Given the description of an element on the screen output the (x, y) to click on. 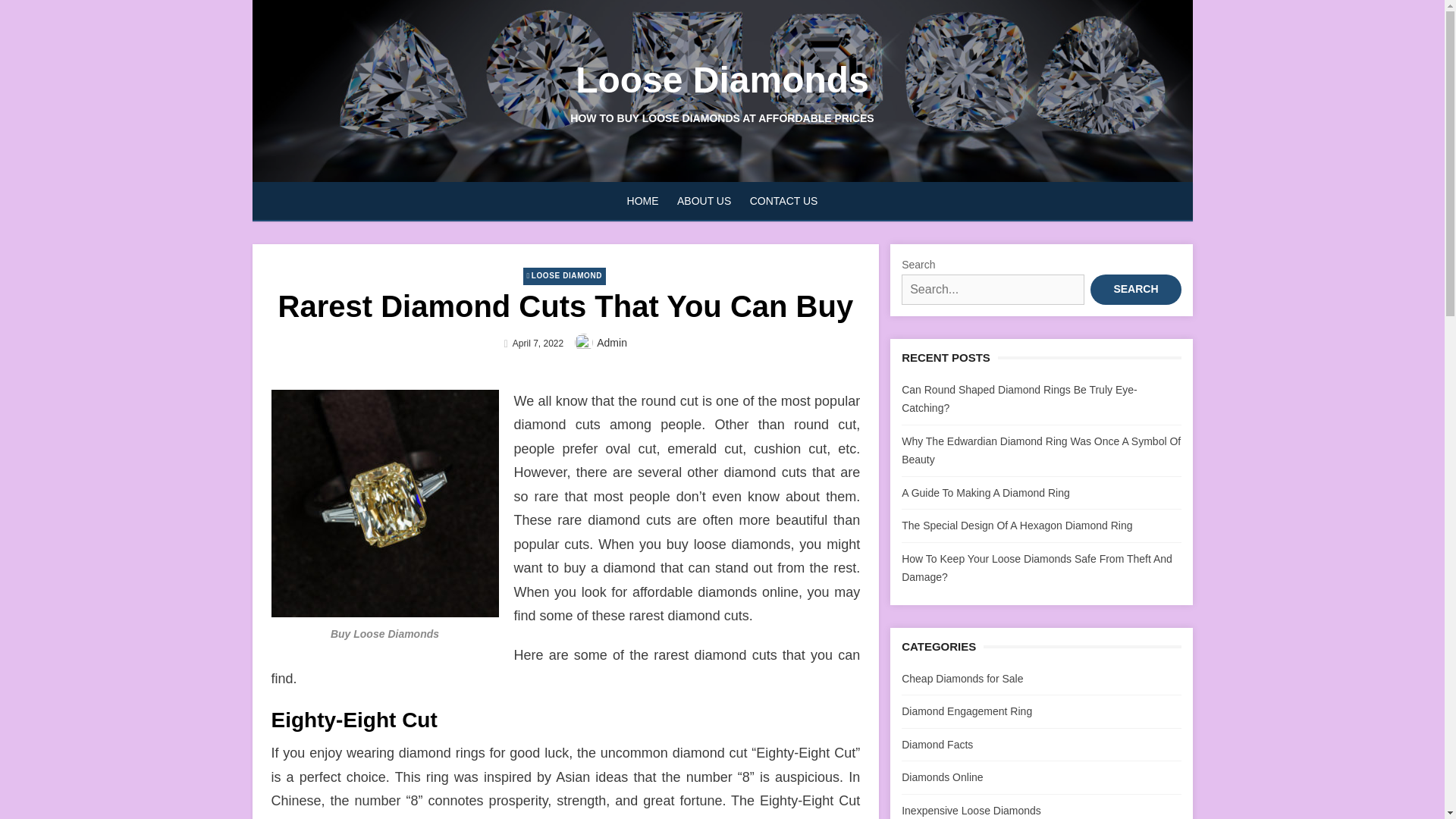
Diamonds Online (941, 776)
Diamond Engagement Ring (966, 711)
How To Keep Your Loose Diamonds Safe From Theft And Damage? (1036, 567)
Inexpensive Loose Diamonds (971, 809)
April 7, 2022 (537, 343)
Cheap Diamonds for Sale (962, 677)
Diamond Facts (936, 744)
LOOSE DIAMOND (564, 275)
The Special Design Of A Hexagon Diamond Ring (1016, 525)
A Guide To Making A Diamond Ring (985, 492)
